Given the description of an element on the screen output the (x, y) to click on. 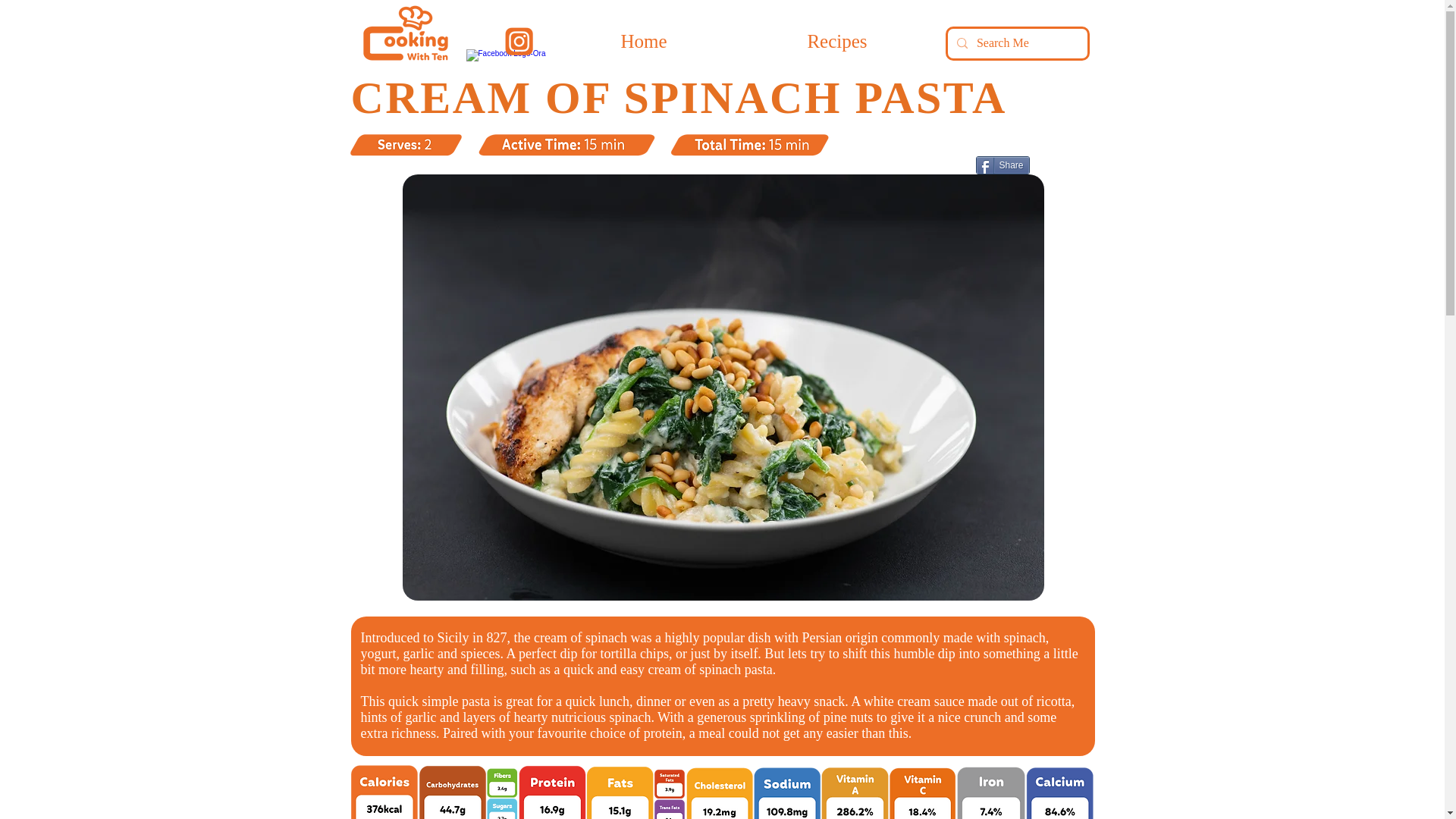
Pin to Pinterest (950, 166)
Share (1002, 165)
Recipes (836, 41)
Share (1002, 165)
Home (643, 41)
